Given the description of an element on the screen output the (x, y) to click on. 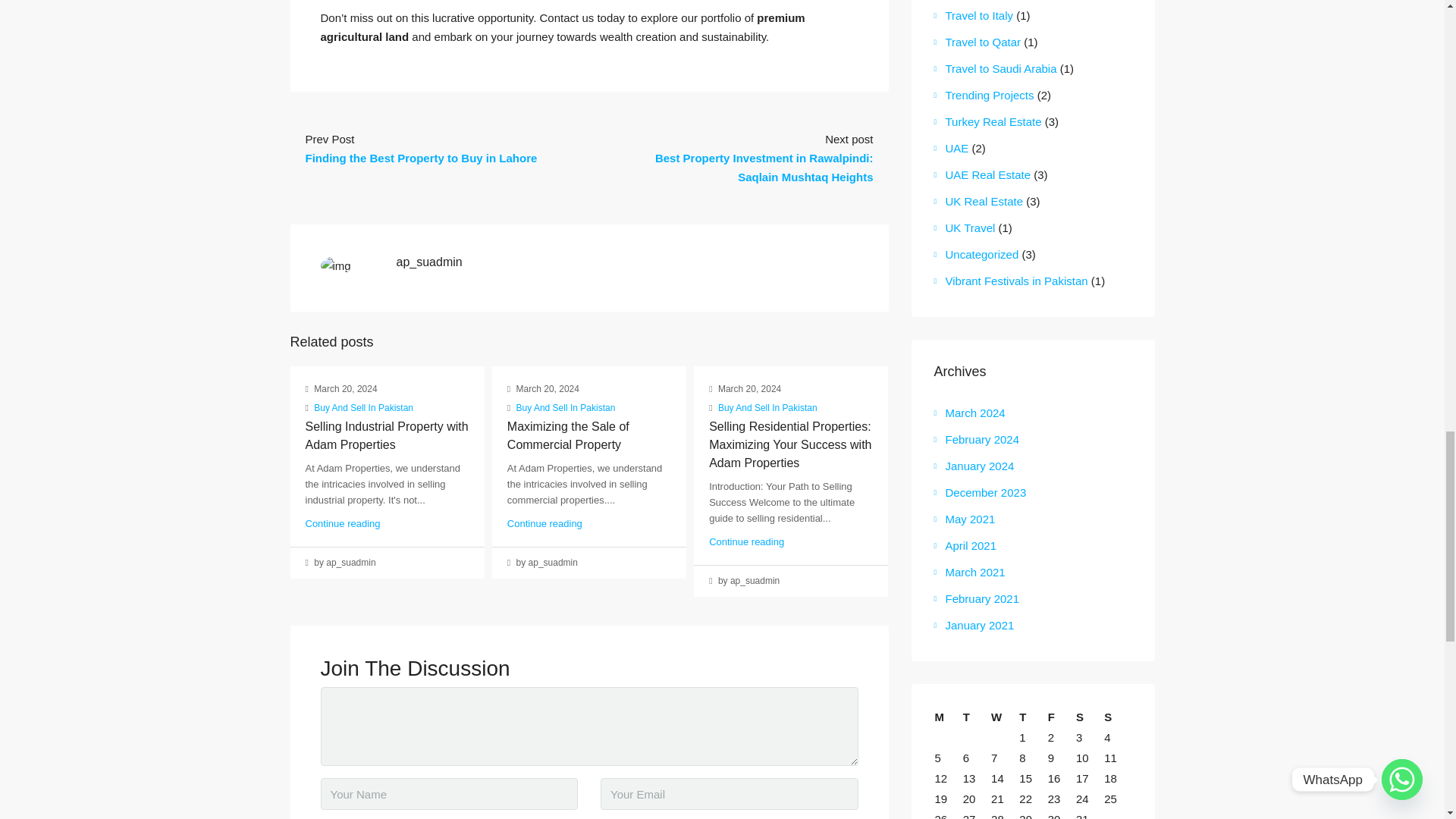
Monday (948, 716)
Wednesday (1003, 716)
Sunday (1117, 716)
Thursday (1031, 716)
Saturday (1089, 716)
Tuesday (976, 716)
Friday (1060, 716)
